Given the description of an element on the screen output the (x, y) to click on. 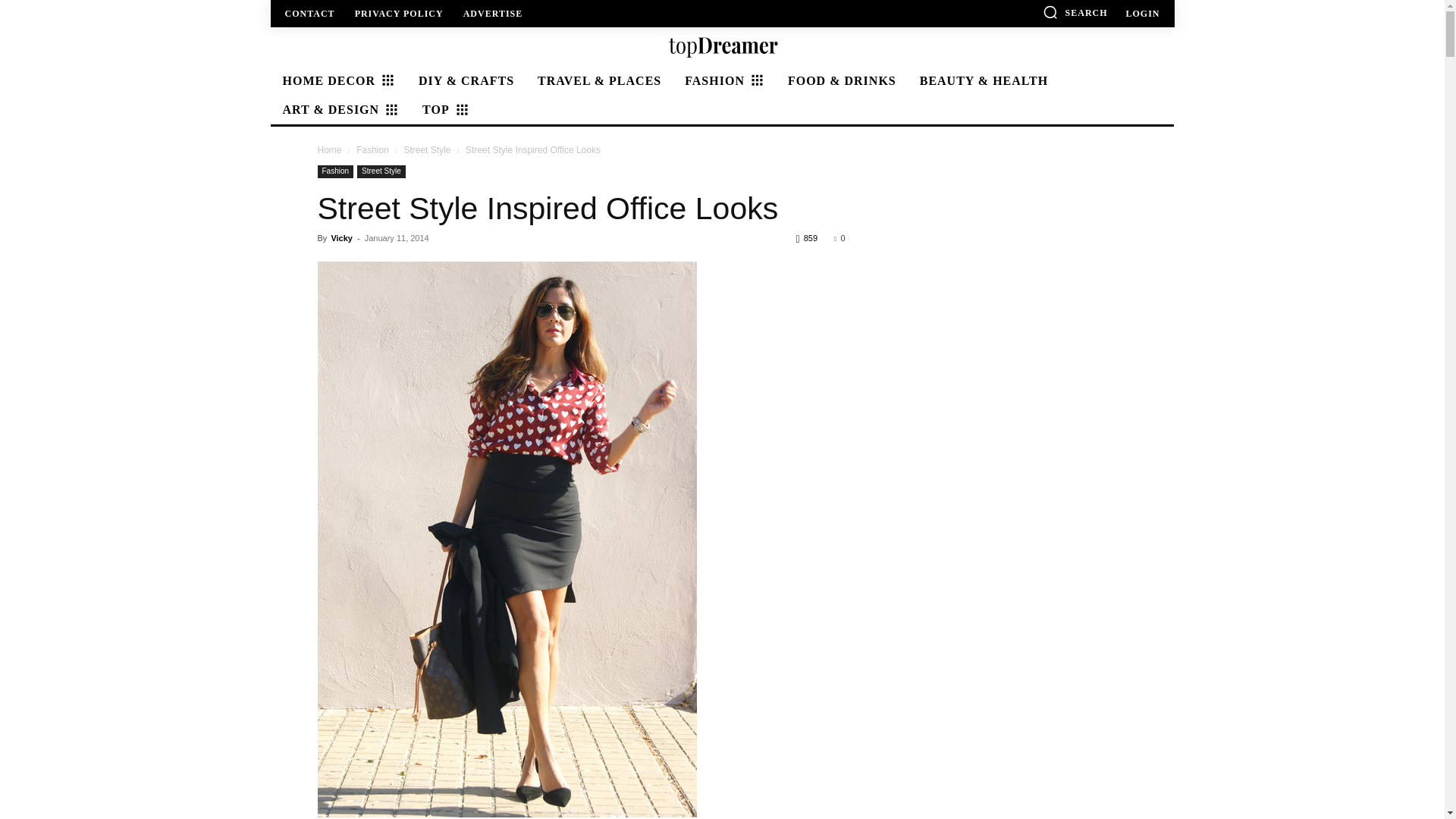
View all posts in Street Style (426, 149)
View all posts in Fashion (372, 149)
